Given the description of an element on the screen output the (x, y) to click on. 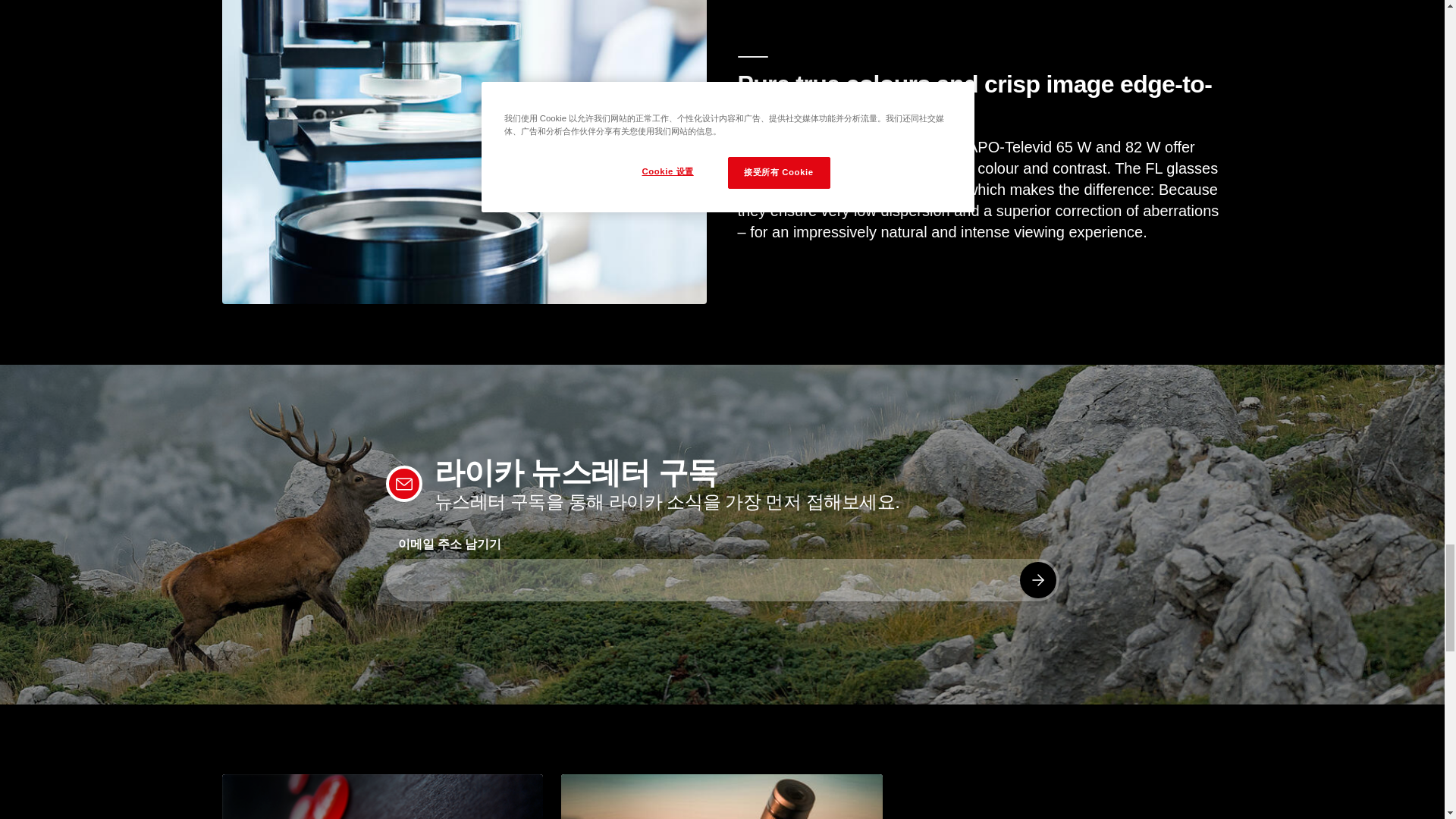
Continue your subscription to the Leica Camera newsletter (1037, 579)
Leica Spotting Scopes (721, 796)
